Given the description of an element on the screen output the (x, y) to click on. 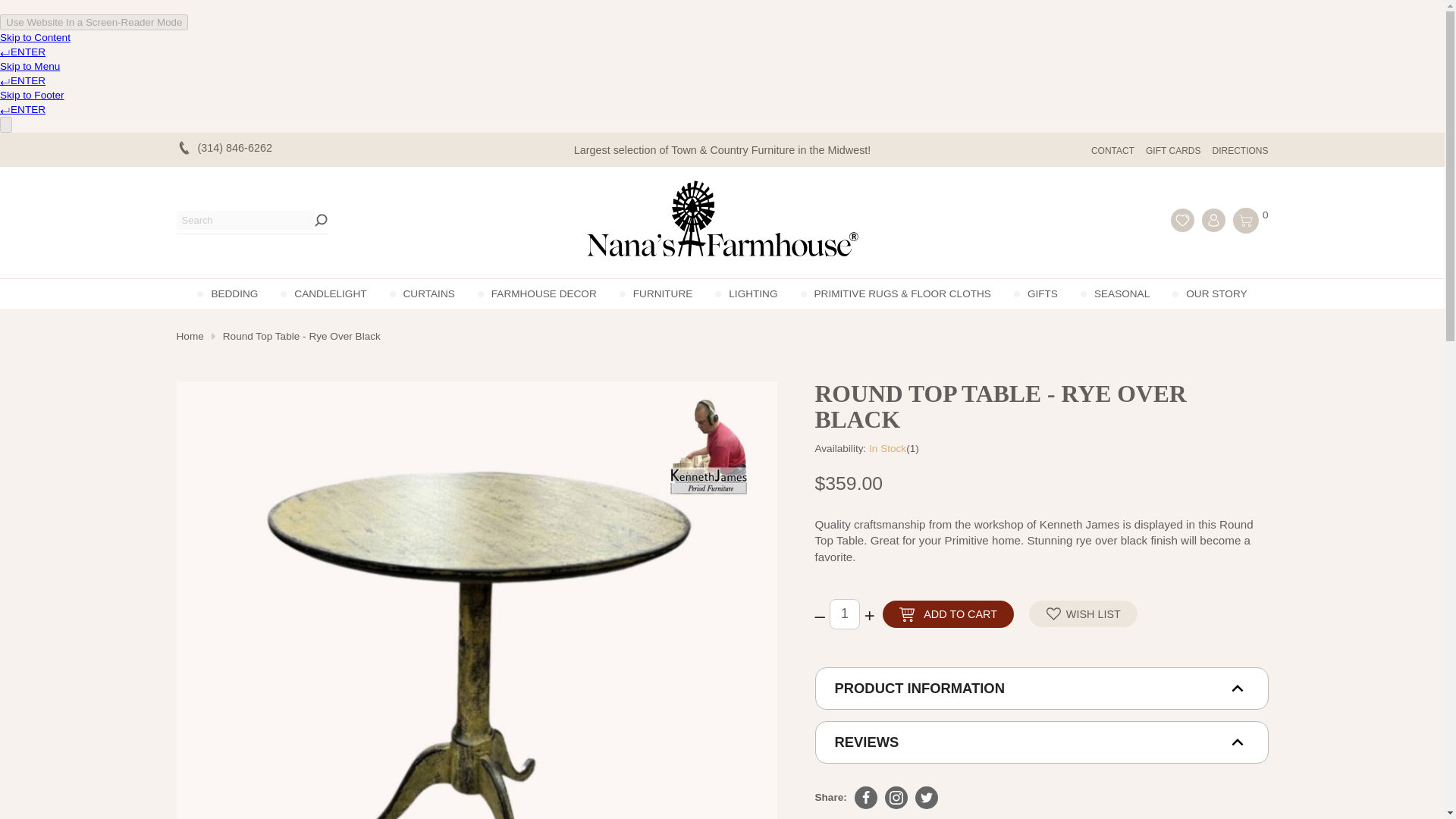
My Account (1213, 219)
1 (844, 613)
My Wishlist (1181, 219)
BEDDING (226, 293)
CANDLELIGHT (323, 293)
My cart (1246, 220)
